Given the description of an element on the screen output the (x, y) to click on. 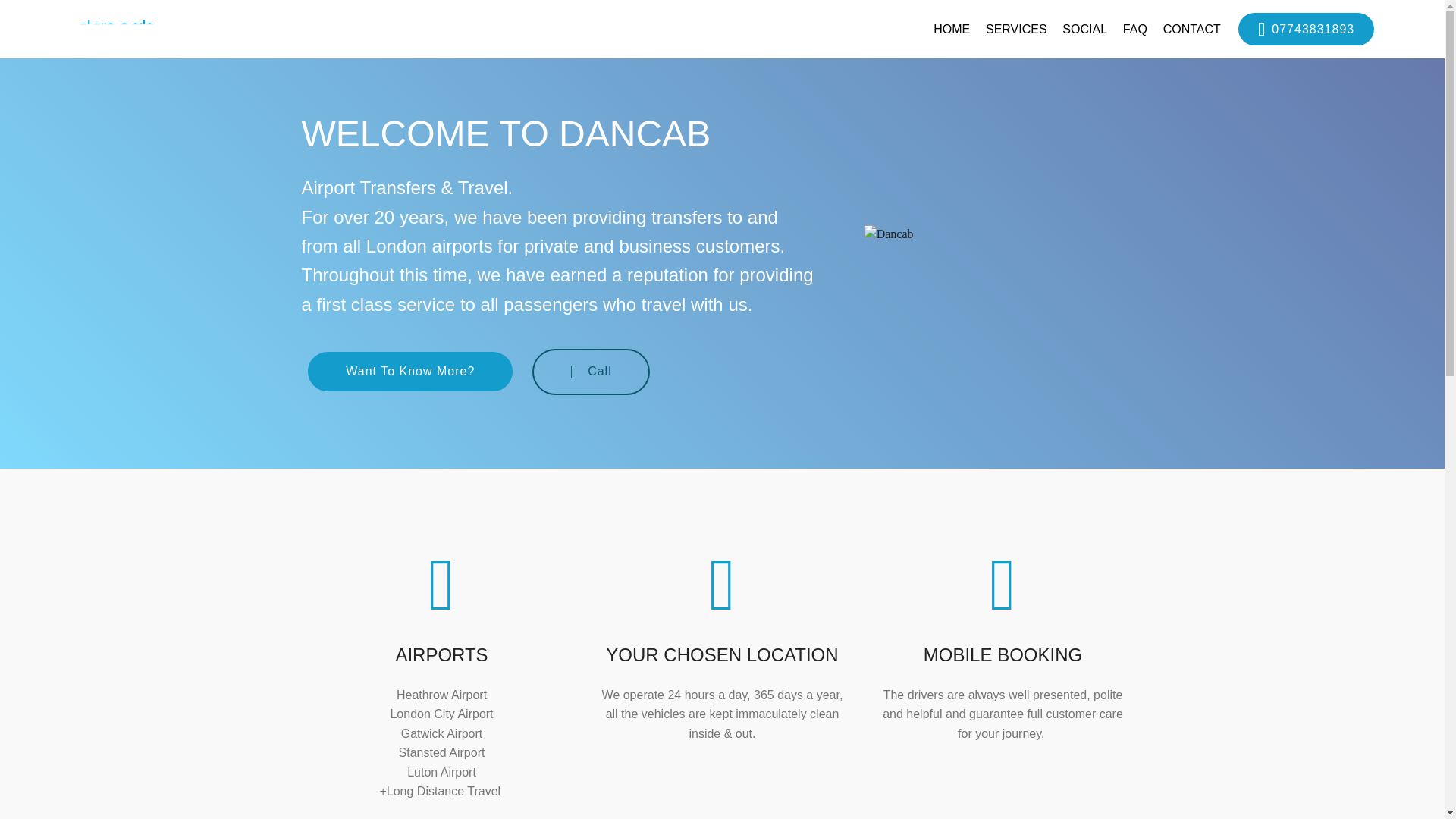
Call (590, 371)
07743831893 (1306, 29)
dancab Title 218 (136, 28)
SERVICES (1015, 28)
CONTACT (1192, 28)
HOME (951, 28)
dancab Title 219 (1003, 234)
SOCIAL (1084, 28)
Want To Know More? (409, 371)
